Given the description of an element on the screen output the (x, y) to click on. 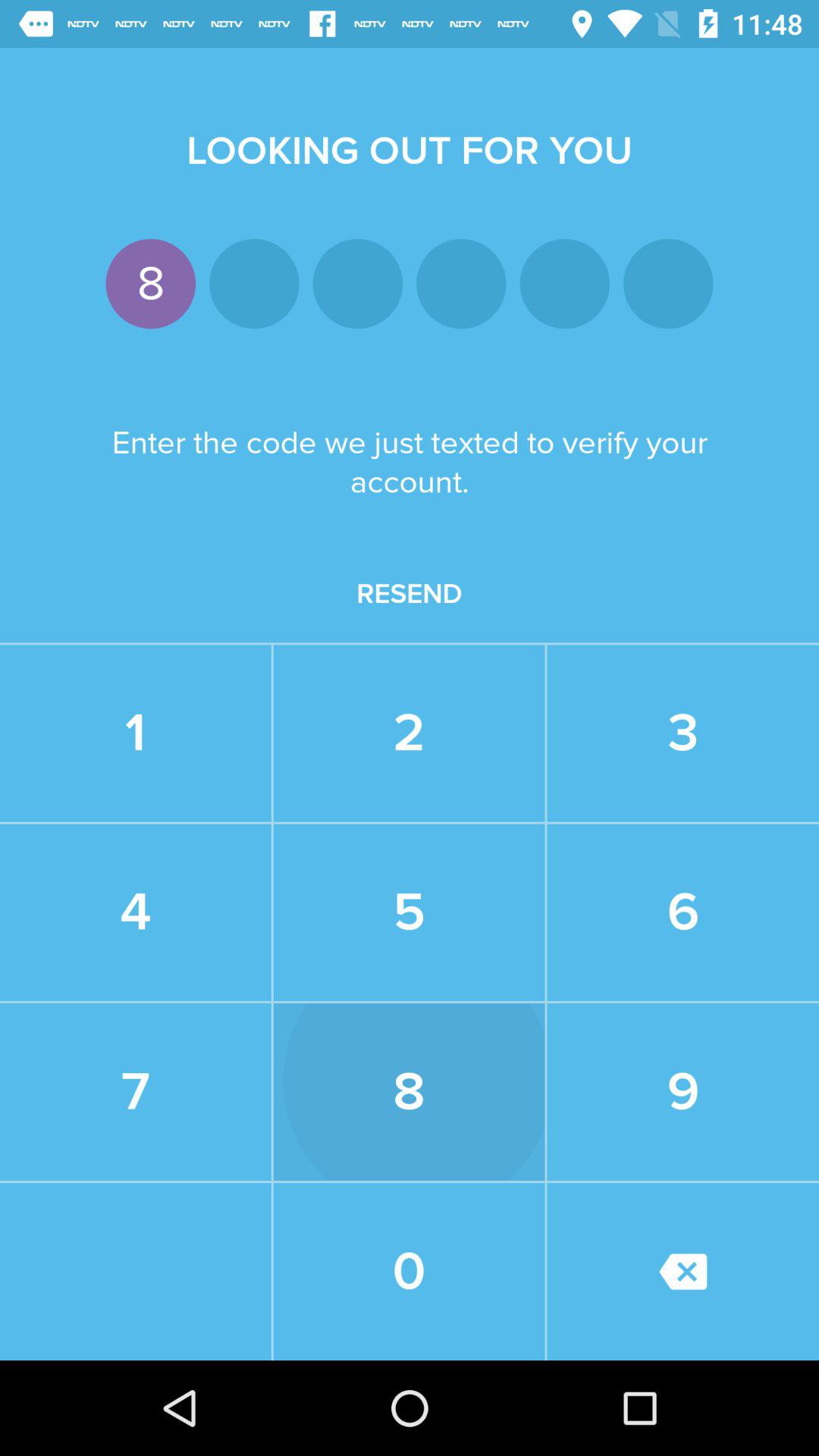
tap 6 (683, 912)
